Given the description of an element on the screen output the (x, y) to click on. 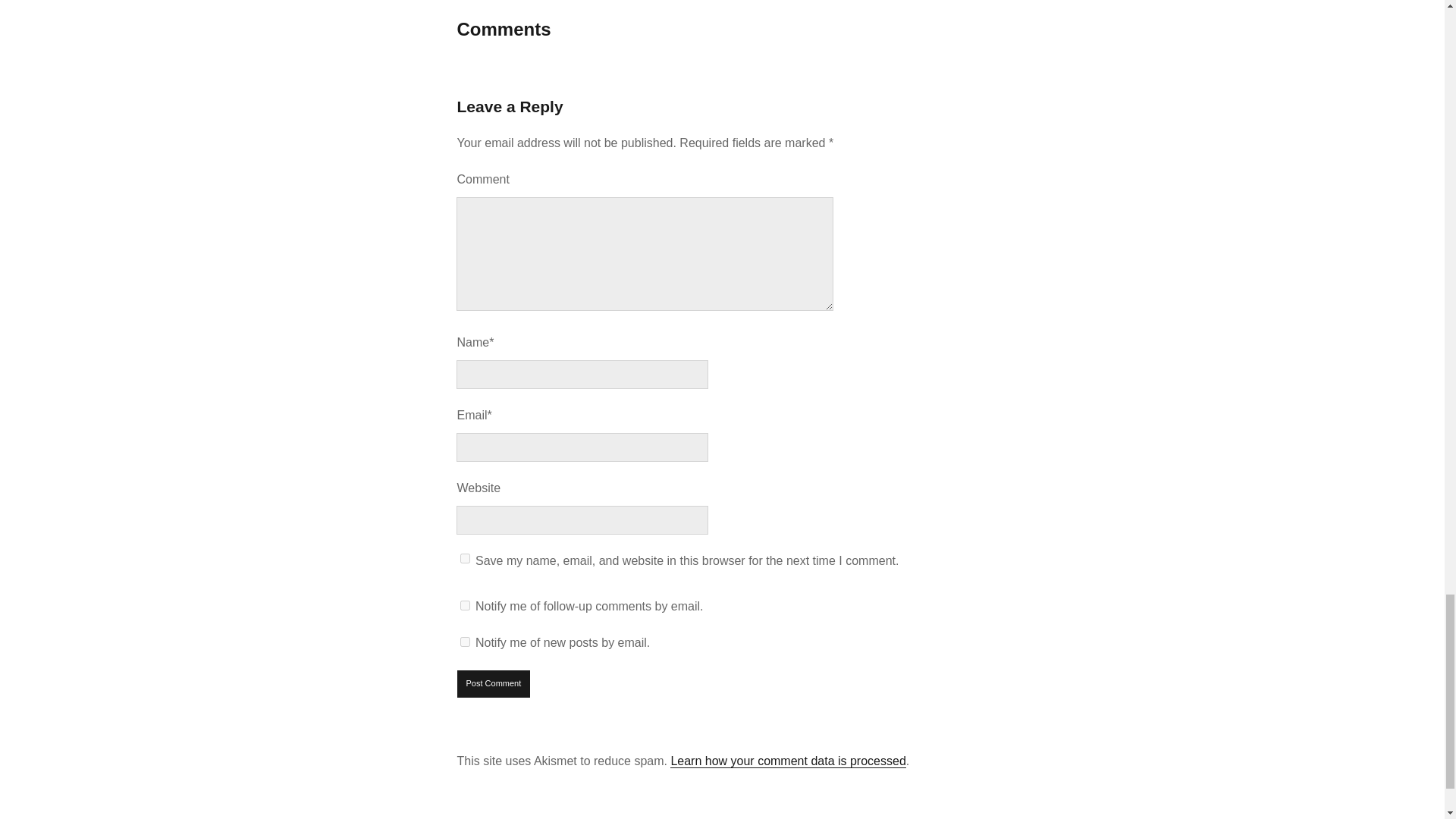
yes (465, 558)
subscribe (465, 642)
subscribe (465, 605)
Post Comment (494, 683)
